Given the description of an element on the screen output the (x, y) to click on. 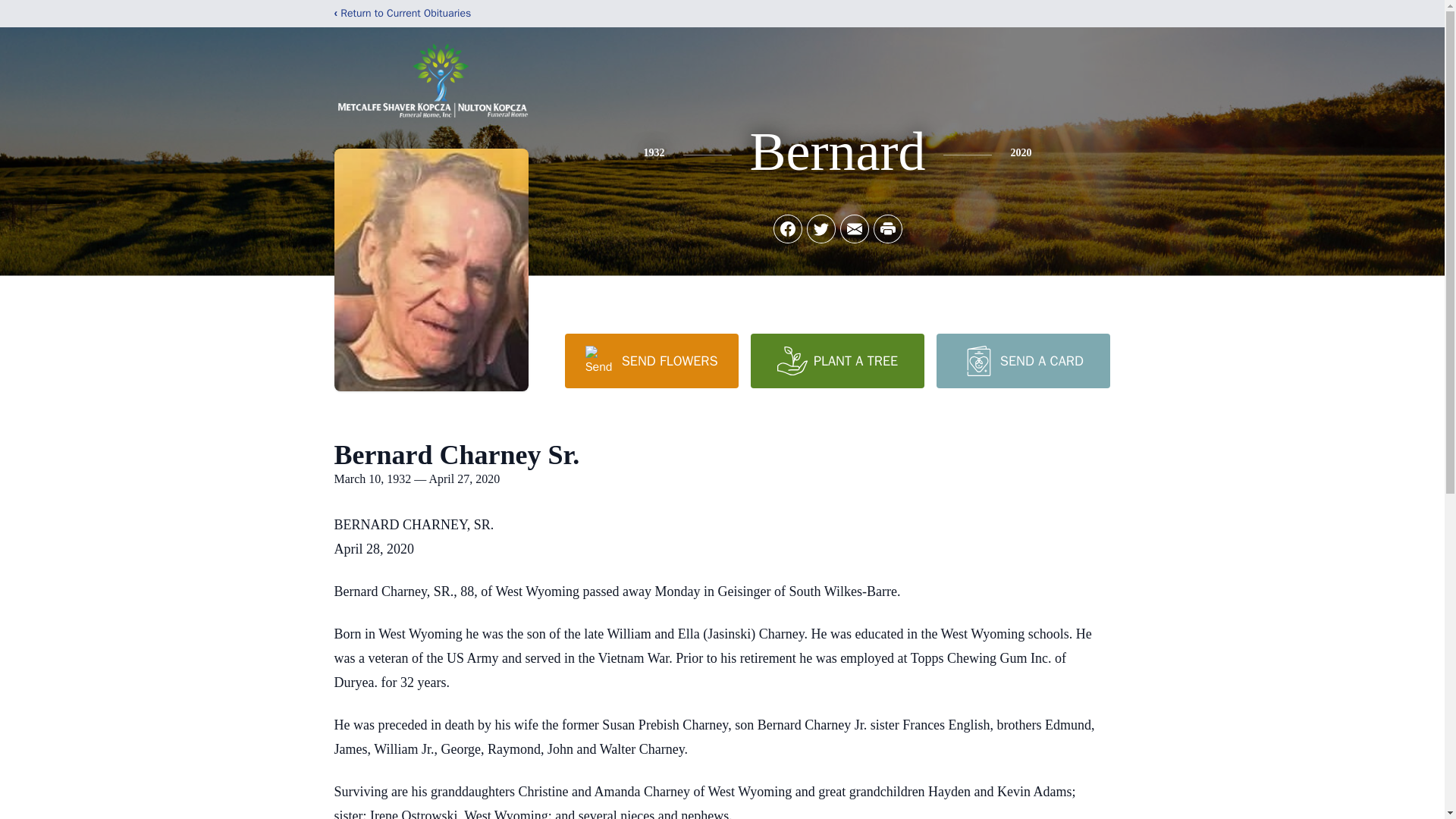
SEND A CARD (1022, 360)
PLANT A TREE (837, 360)
SEND FLOWERS (651, 360)
